Given the description of an element on the screen output the (x, y) to click on. 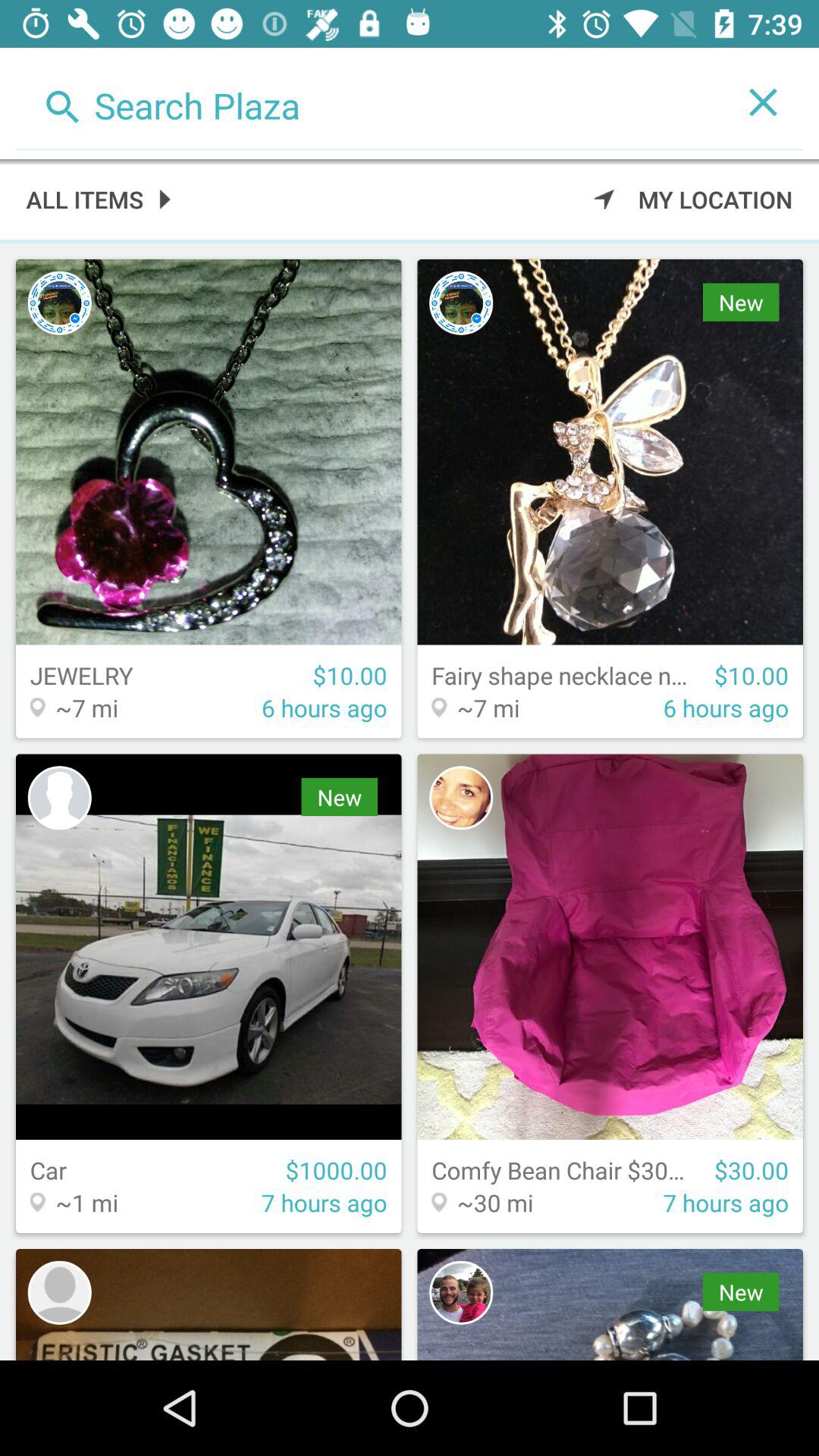
select item next to all items (693, 199)
